Given the description of an element on the screen output the (x, y) to click on. 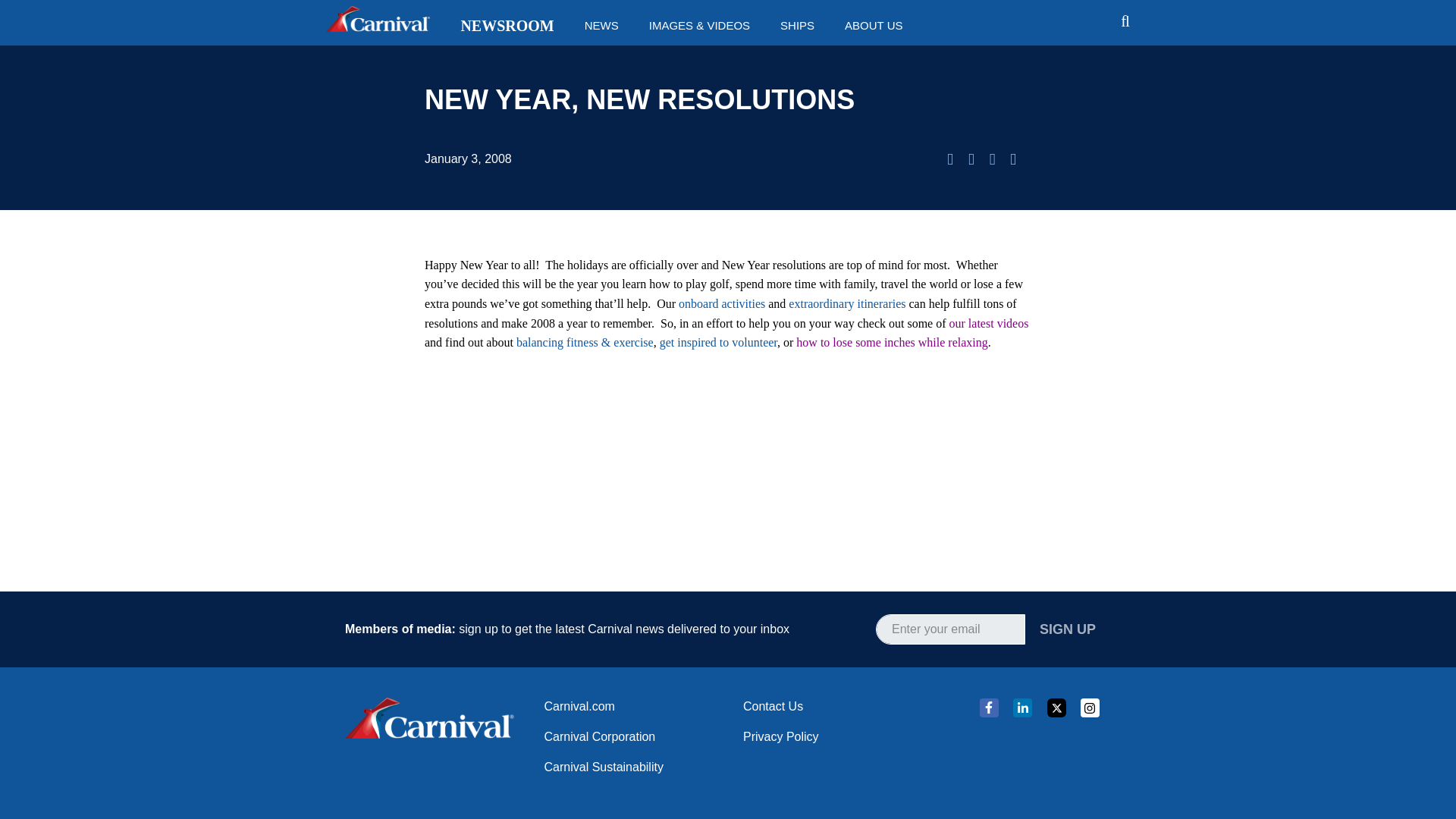
NEWSROOM (506, 25)
